Given the description of an element on the screen output the (x, y) to click on. 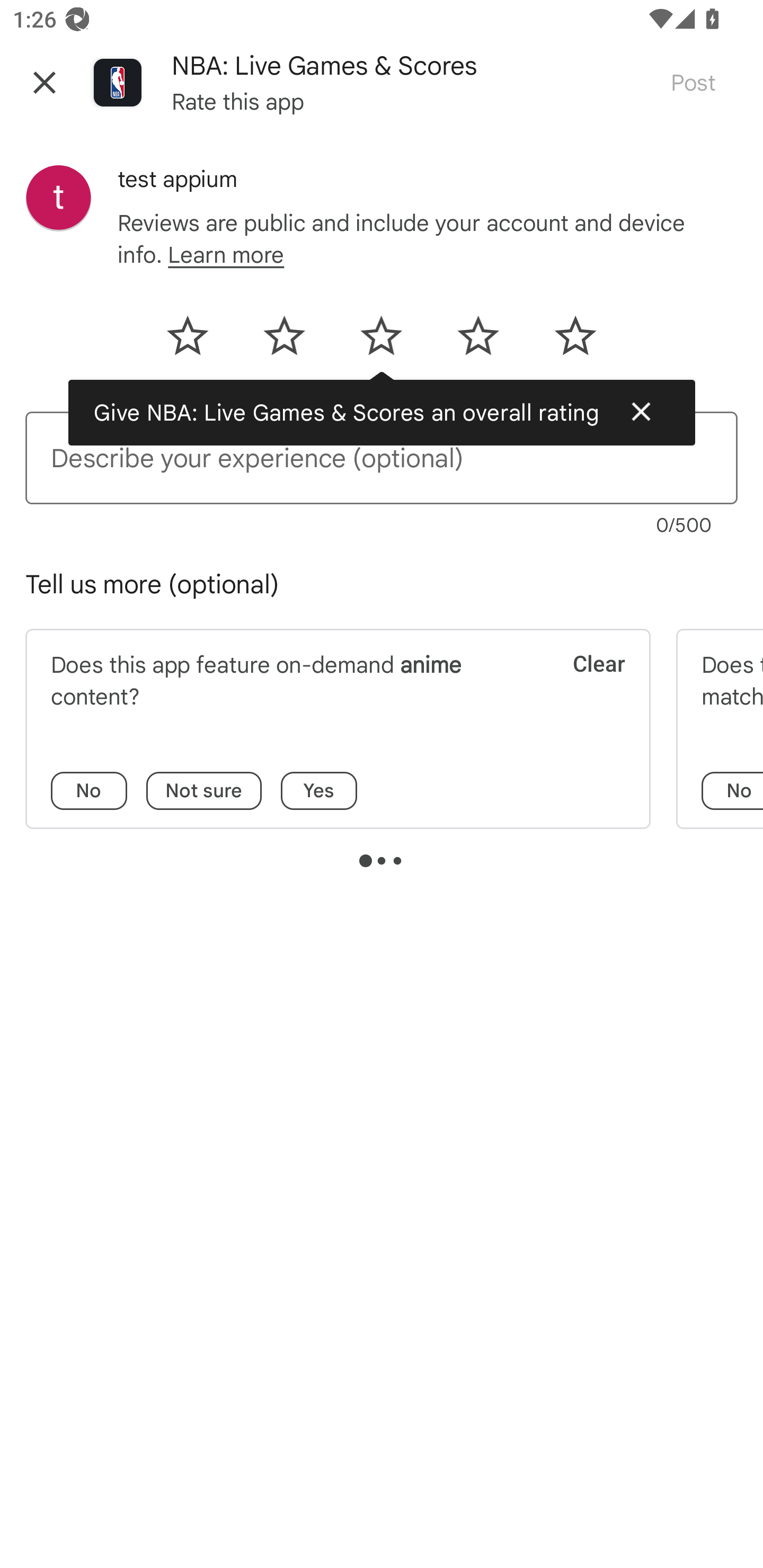
Close (44, 82)
Post (692, 81)
First star unselected (198, 341)
Second star unselected (283, 341)
Third star unselected (380, 341)
Fourth star unselected (477, 341)
Fifth star unselected (563, 341)
Close (640, 411)
Describe your experience (optional) (381, 457)
Clear (586, 685)
No (89, 790)
Not sure (203, 790)
Yes (318, 790)
No (732, 790)
